Given the description of an element on the screen output the (x, y) to click on. 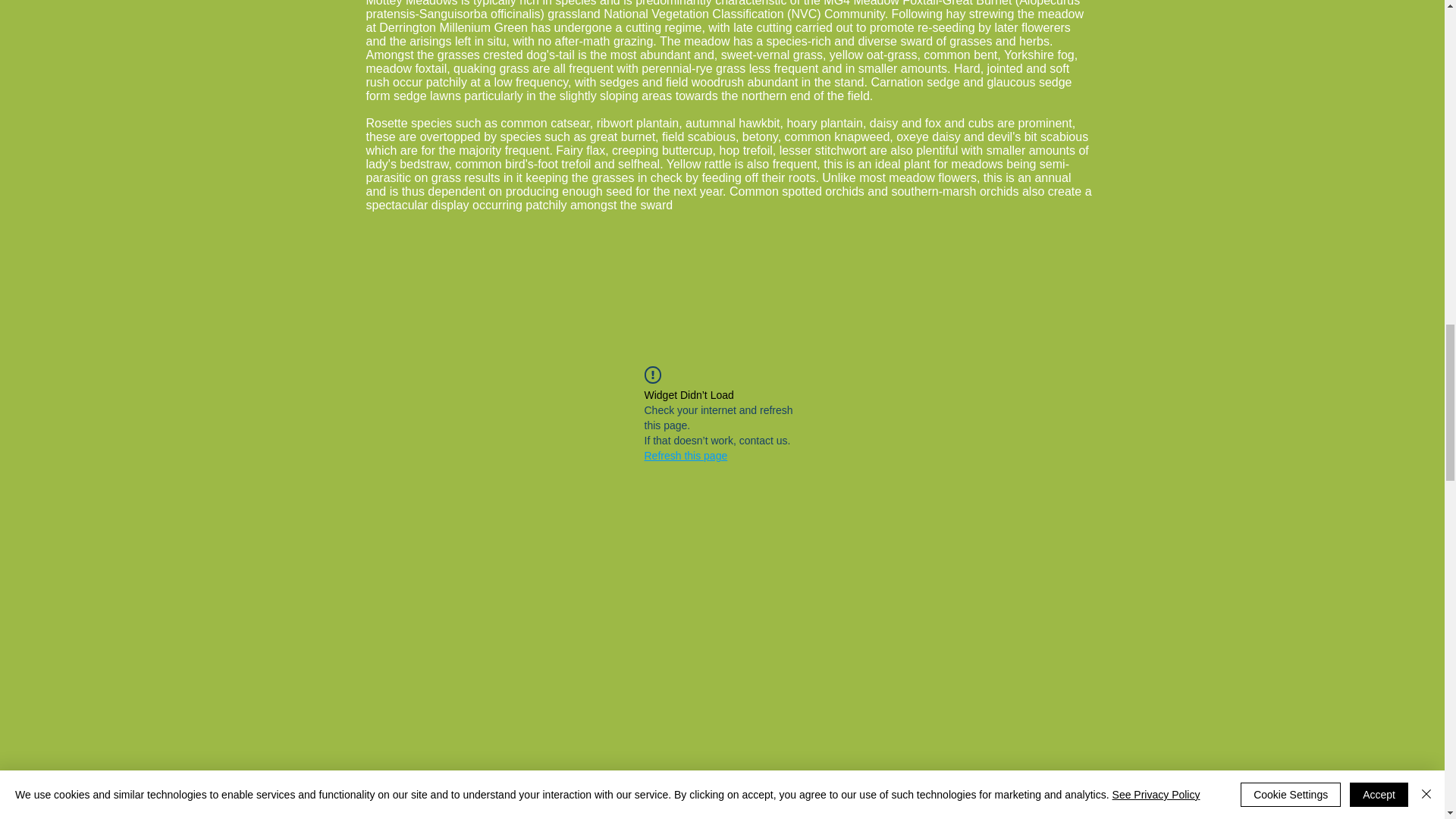
Refresh this page (686, 455)
